Given the description of an element on the screen output the (x, y) to click on. 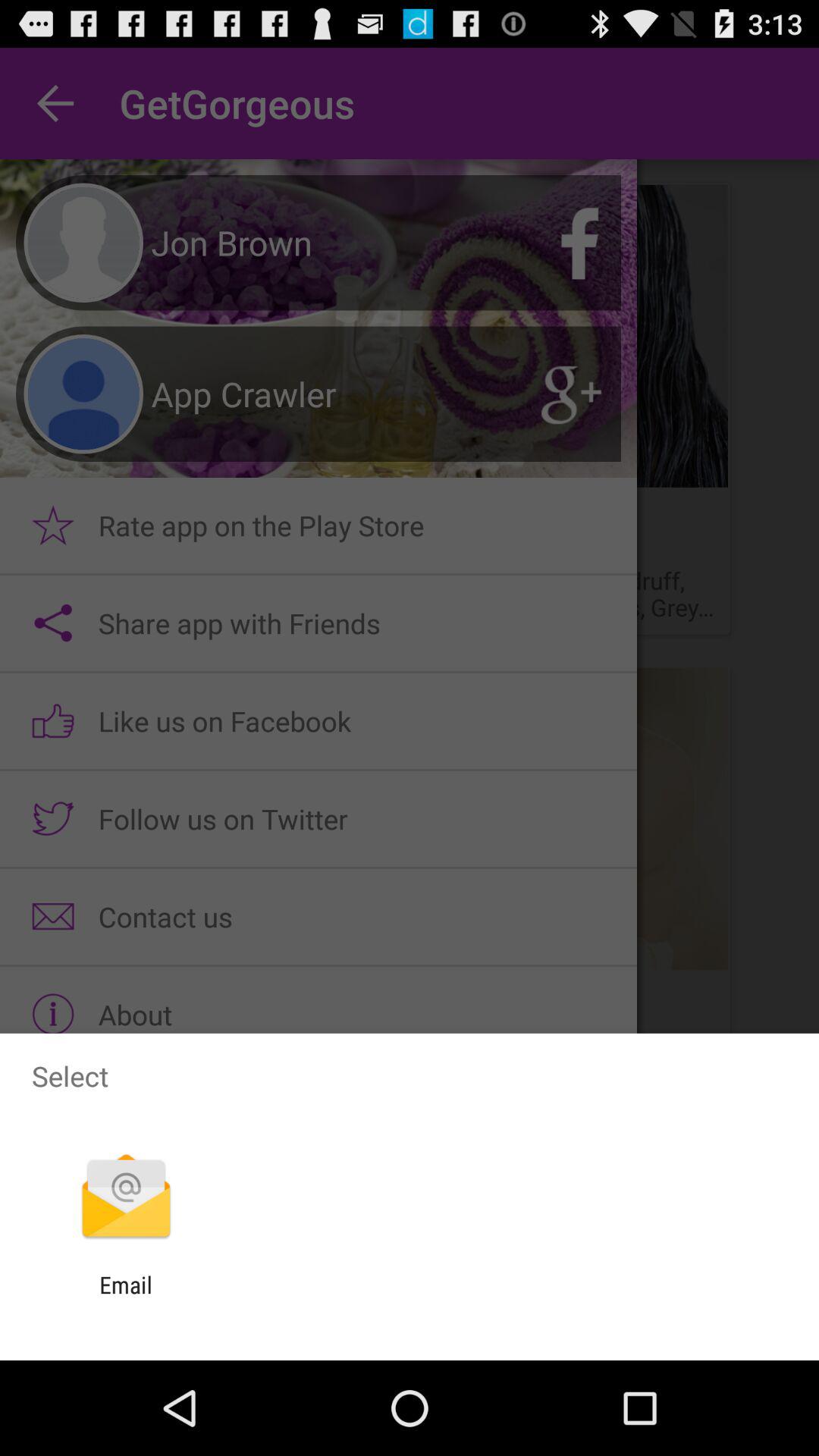
turn on email (125, 1298)
